Given the description of an element on the screen output the (x, y) to click on. 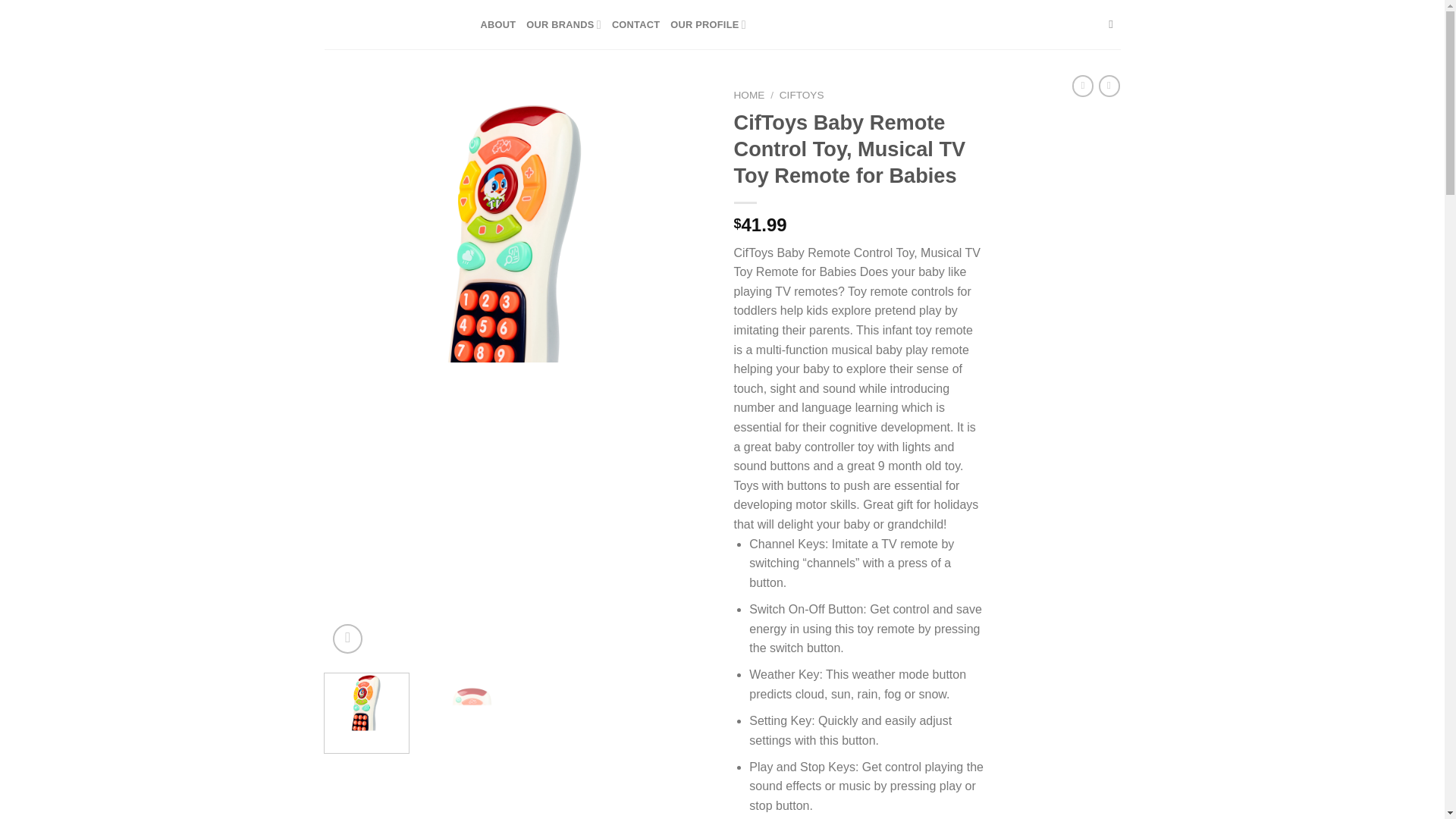
Zoom (347, 638)
ABOUT (498, 23)
CIFTOYS (801, 94)
HOME (749, 94)
CONTACT (635, 23)
OUR PROFILE (707, 24)
OUR BRANDS (563, 24)
